Given the description of an element on the screen output the (x, y) to click on. 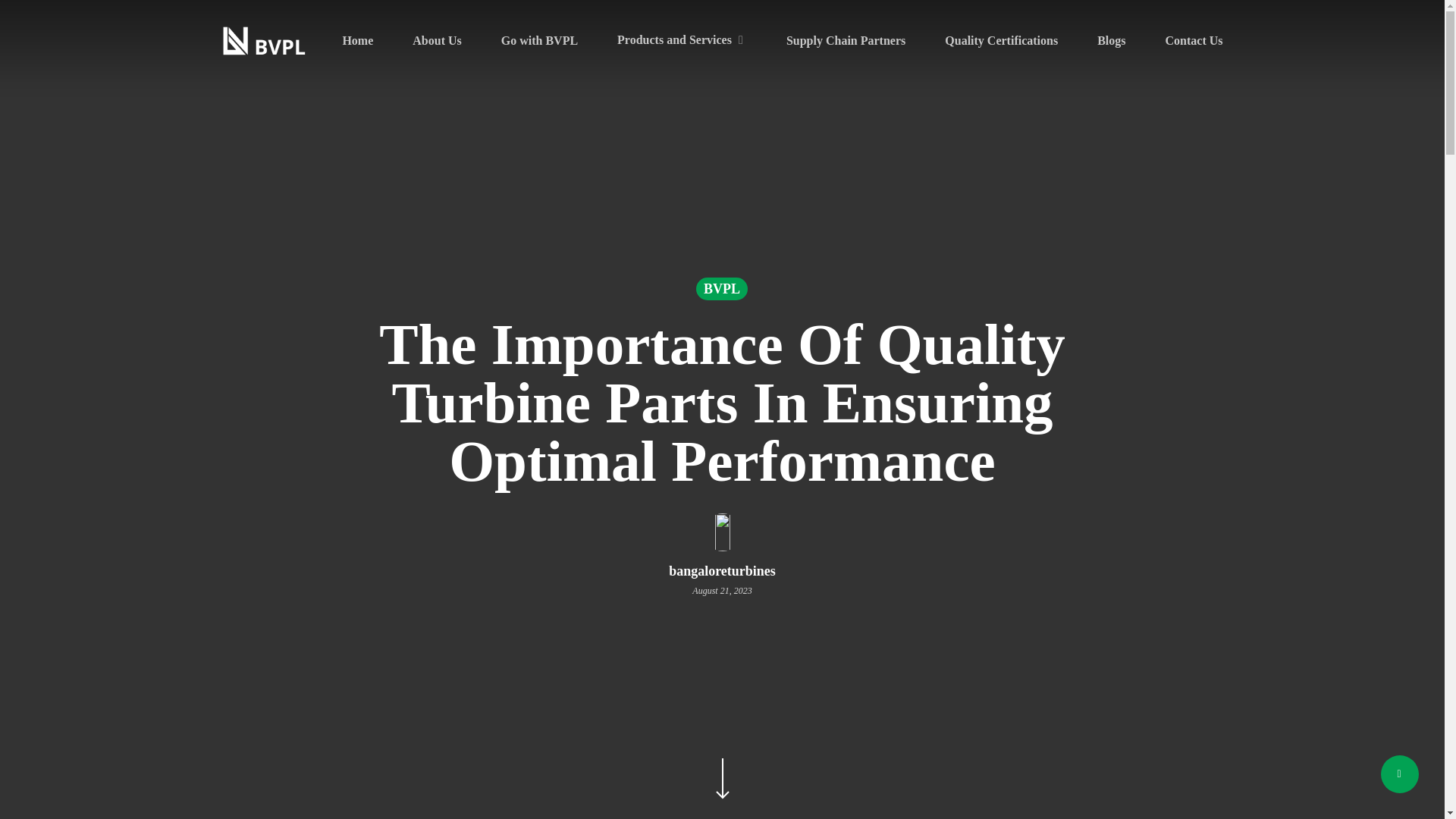
bangaloreturbines (722, 570)
BVPL (721, 288)
Blogs (1111, 40)
Products and Services (681, 40)
Contact Us (1193, 40)
Posts by bangaloreturbines (722, 570)
About Us (436, 40)
Go with BVPL (539, 40)
Supply Chain Partners (845, 40)
Home (357, 40)
Quality Certifications (1001, 40)
